Given the description of an element on the screen output the (x, y) to click on. 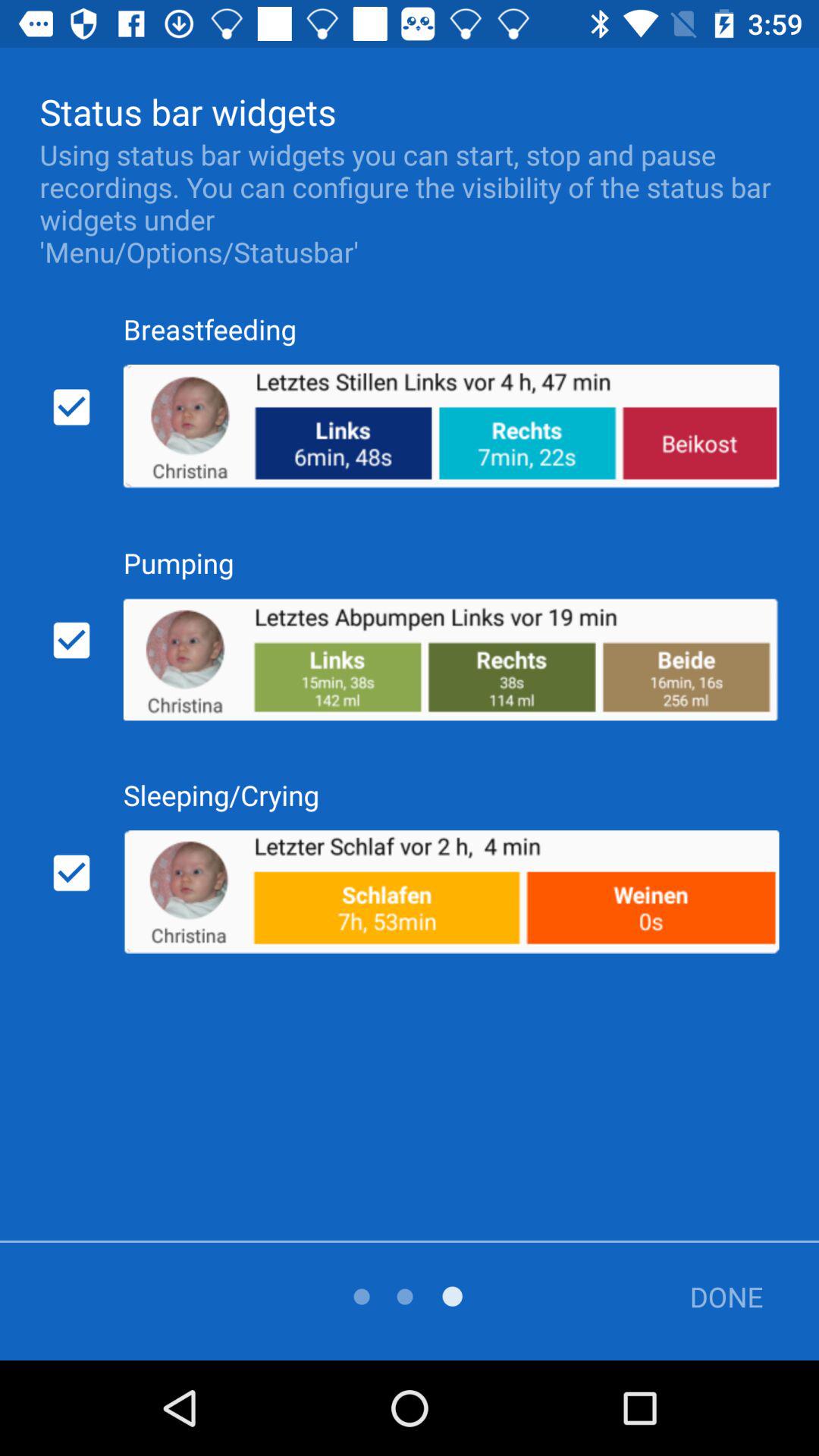
tap done at the bottom right corner (715, 1296)
